Given the description of an element on the screen output the (x, y) to click on. 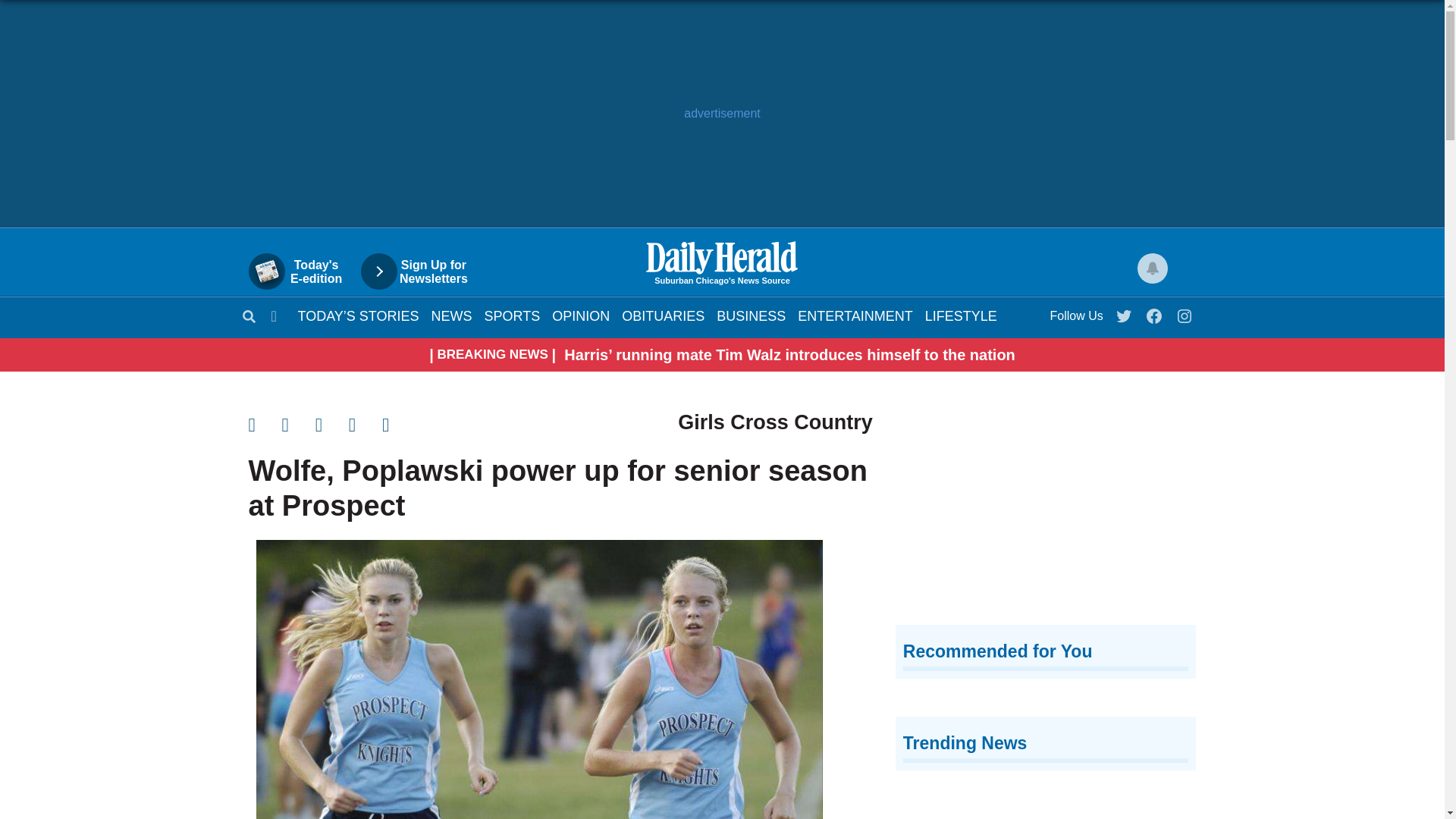
Entertainment (854, 315)
Opinion (580, 315)
Signup Widget Embed (1045, 512)
Business (751, 315)
OBITUARIES (662, 315)
Obituaries (662, 315)
Share via Email (332, 424)
Today's Stories (358, 315)
SPORTS (303, 271)
